Given the description of an element on the screen output the (x, y) to click on. 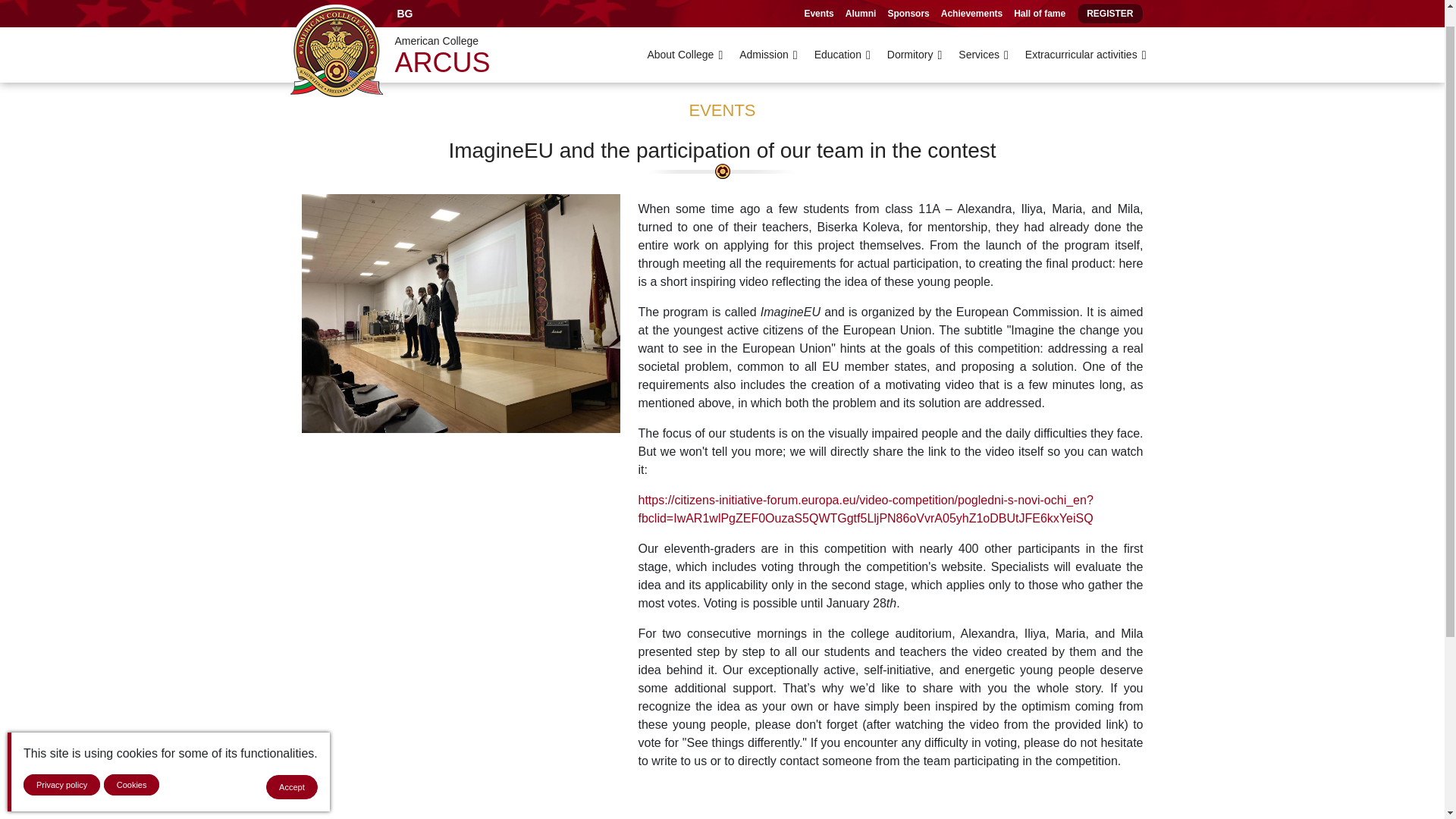
Admission (767, 33)
Admission (767, 33)
About College (684, 33)
REGISTER (1109, 1)
BG (404, 2)
About College (684, 33)
Education (841, 33)
